Given the description of an element on the screen output the (x, y) to click on. 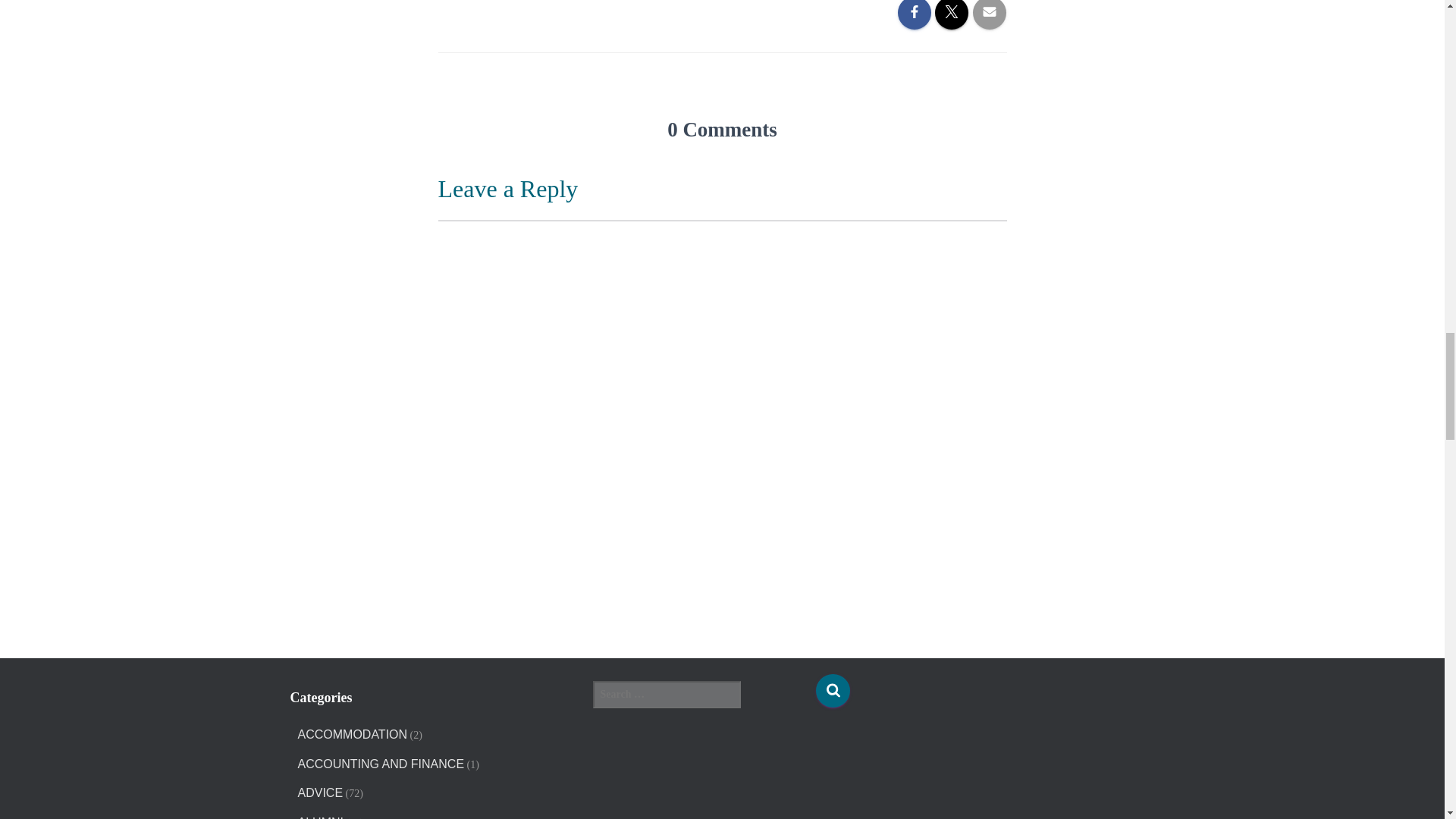
Search (832, 690)
ACCOUNTING AND FINANCE (380, 764)
ACCOMMODATION (352, 734)
ADVICE (319, 792)
Search (832, 690)
